Given the description of an element on the screen output the (x, y) to click on. 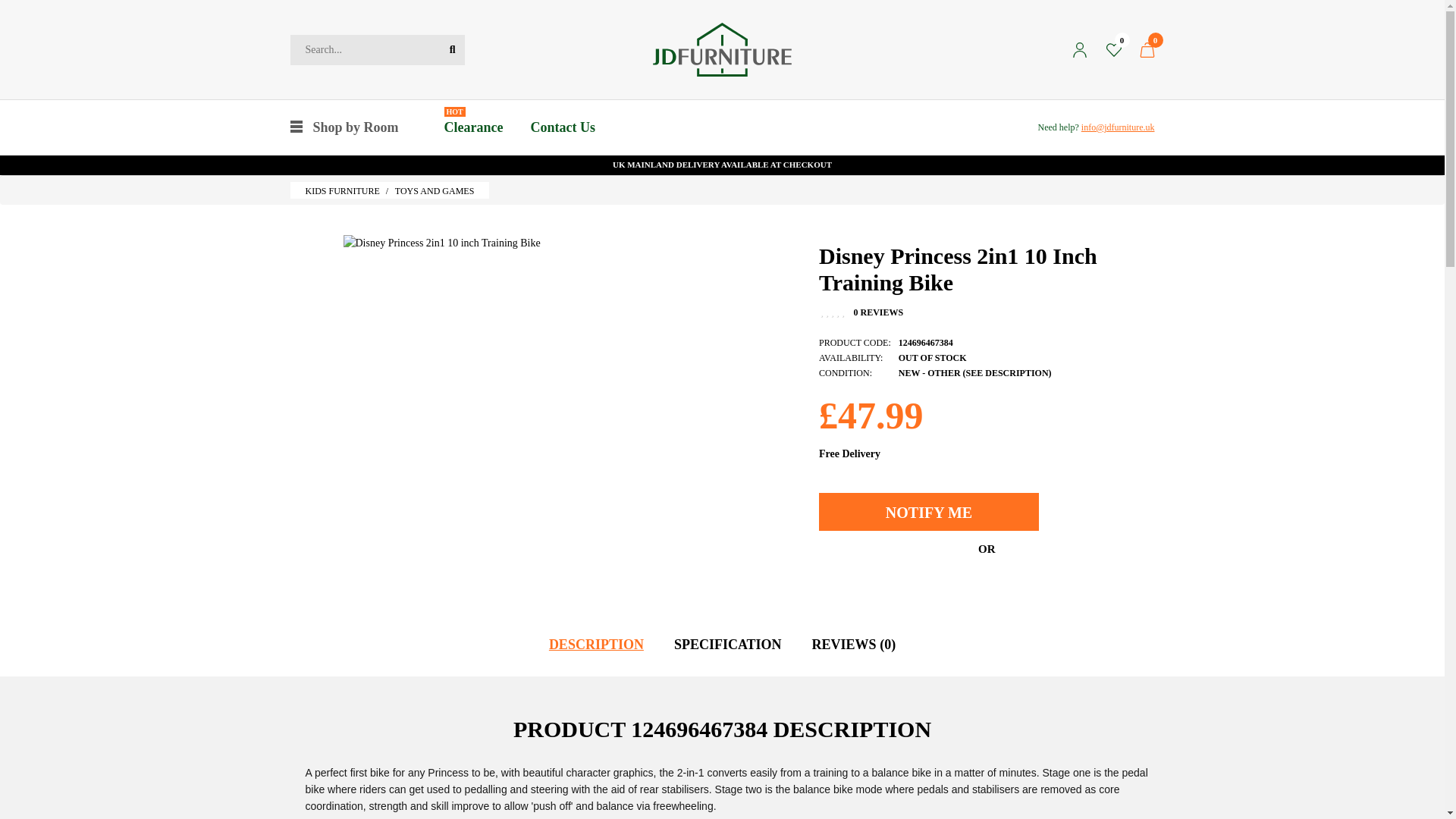
Disney Princess 2in1 10 inch Training Bike (441, 242)
Disney Princess 2in1 10 inch Training Bike (441, 243)
Shop by Room (343, 127)
 Notify me  (928, 511)
JD Furniture (722, 49)
